Given the description of an element on the screen output the (x, y) to click on. 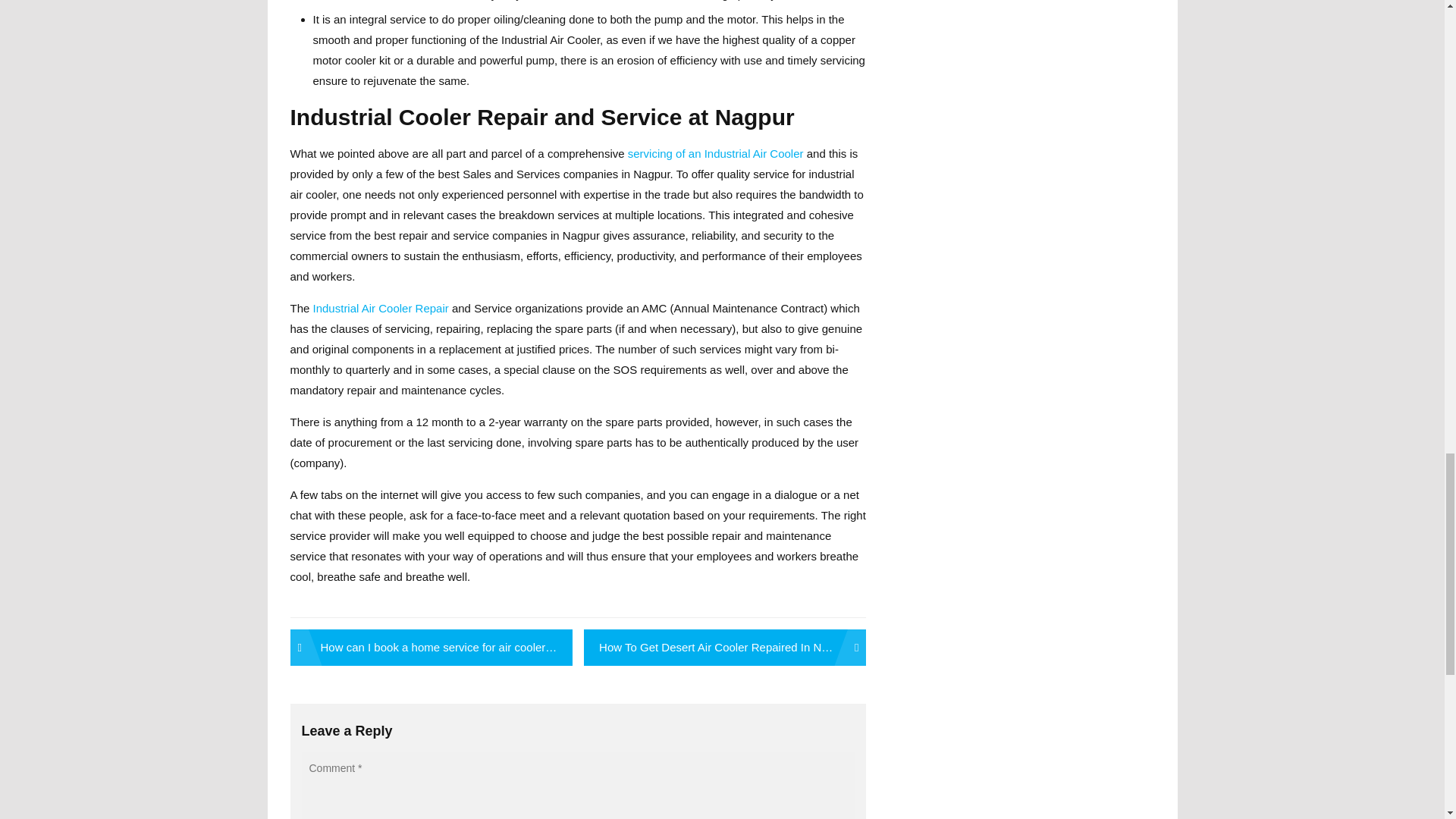
Industrial Air Cooler Repair (380, 308)
How To Get Desert Air Cooler Repaired In Nagpur (724, 647)
servicing of an Industrial Air Cooler (715, 153)
